Given the description of an element on the screen output the (x, y) to click on. 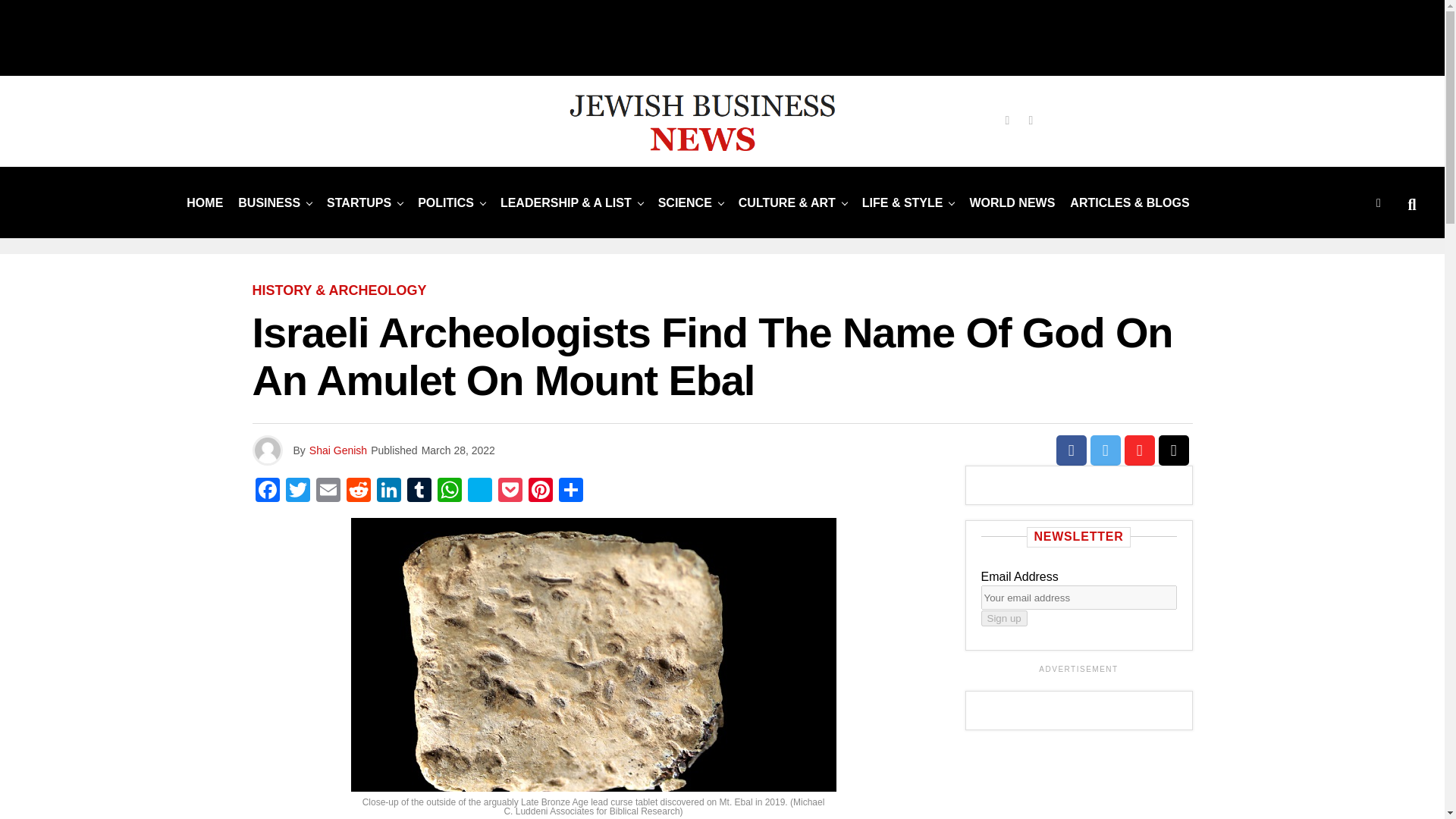
Reddit (357, 491)
New Research (684, 203)
WhatsApp (448, 491)
Posts by Shai Genish (337, 450)
Facebook (266, 491)
Share on Facebook (1070, 450)
LinkedIn (387, 491)
Twitter (297, 491)
Sign up (1004, 618)
Email (327, 491)
Tweet This Post (1105, 450)
Share on Flipboard (1139, 450)
Tumblr (418, 491)
